Given the description of an element on the screen output the (x, y) to click on. 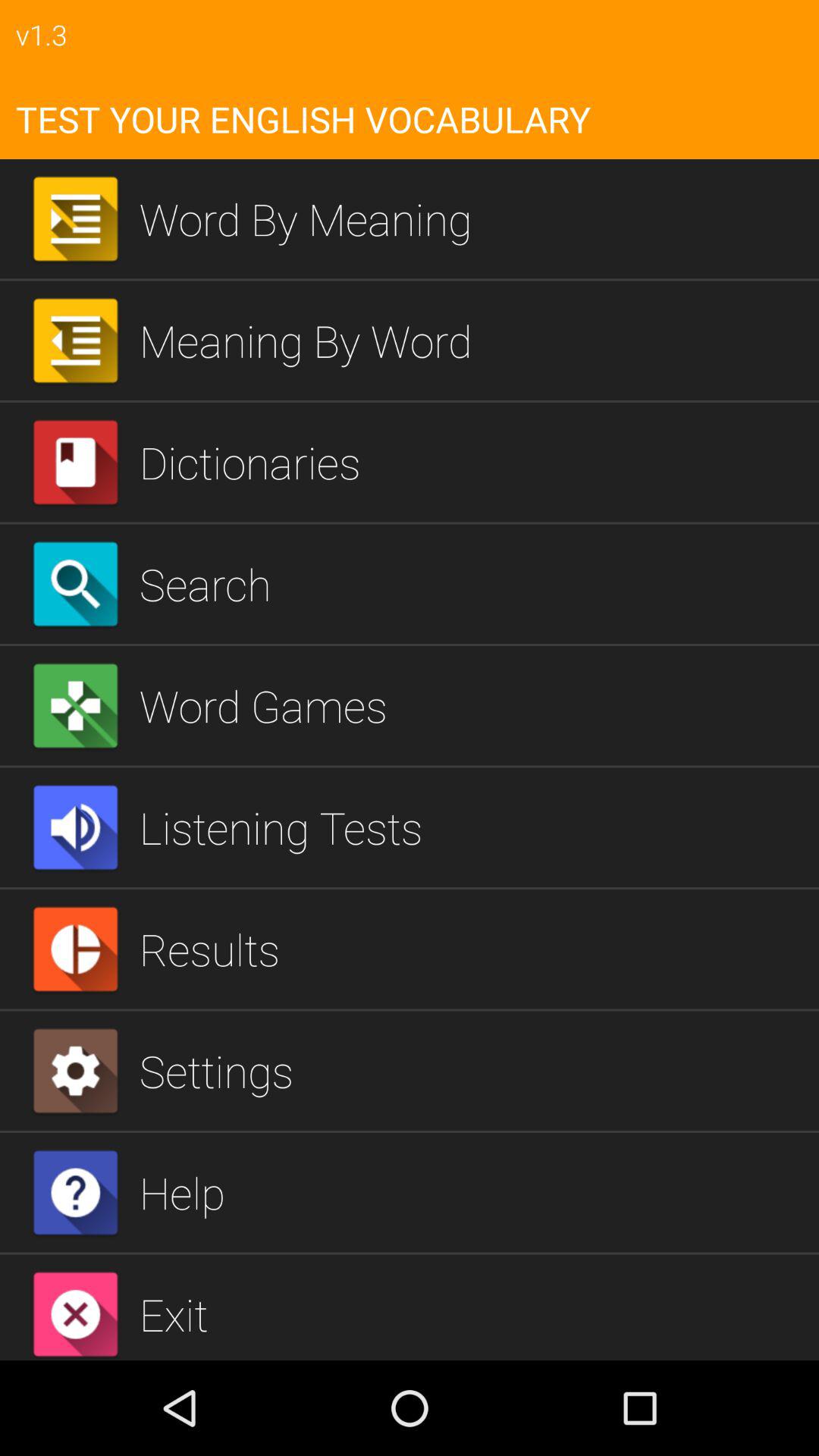
select the item above help item (473, 1070)
